Given the description of an element on the screen output the (x, y) to click on. 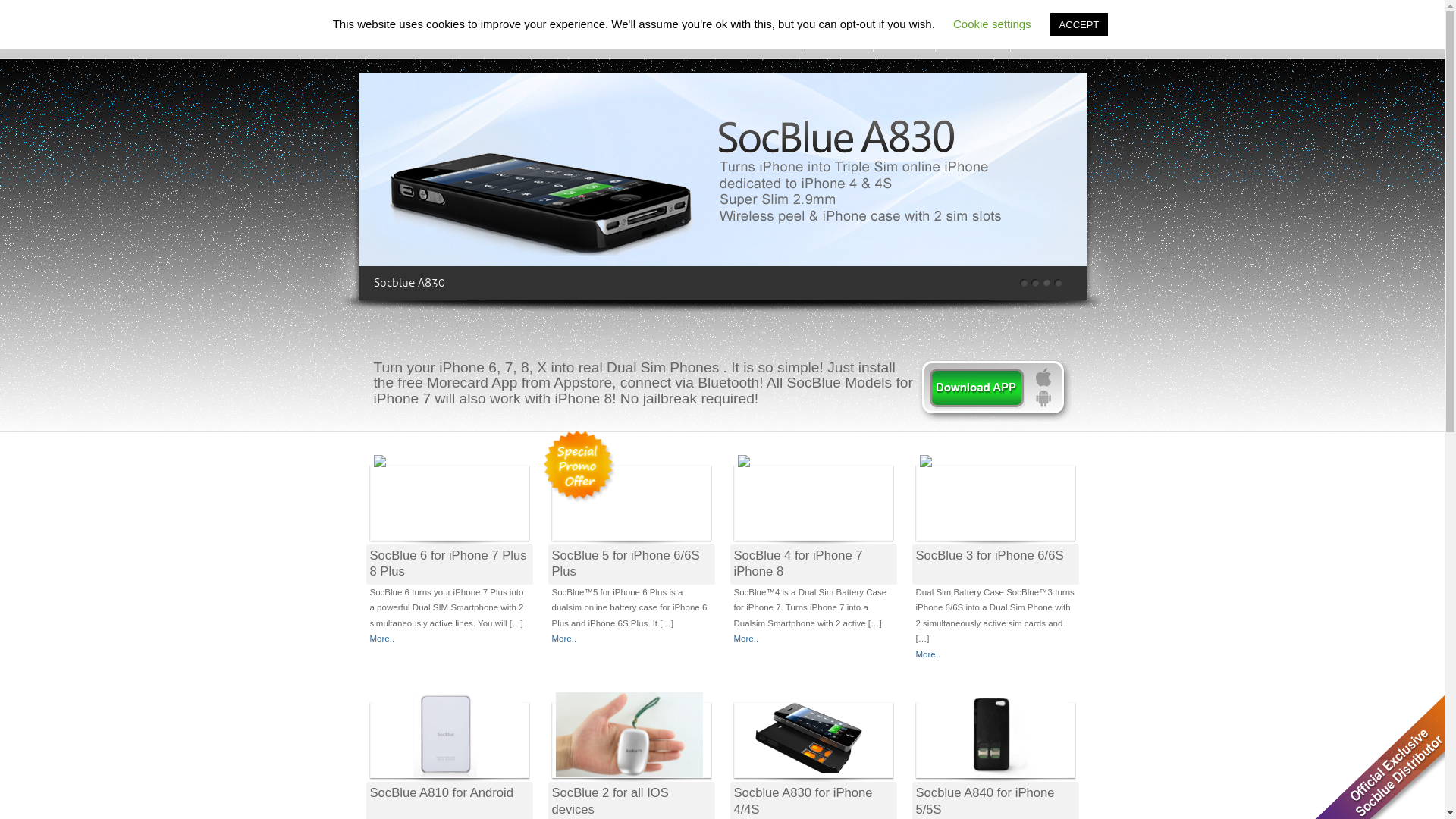
SocBlue 5 for iPhone 6/6S Plus Element type: hover (560, 470)
Cookie settings Element type: text (992, 23)
SocBlue 5 for iPhone 6/6S Plus Element type: text (625, 563)
SocBlue 2 for all IOS devices Element type: hover (628, 781)
More.. Element type: text (746, 638)
HOME Element type: text (781, 29)
SocBlue 3 for iPhone 6/6S Element type: text (989, 555)
ORDER NOW Element type: text (972, 29)
learn more Element type: text (993, 390)
SocBlue 3 for iPhone 6/6S Element type: hover (924, 470)
1 Element type: text (1035, 282)
SUPPORT Element type: text (903, 29)
0 Element type: text (1023, 282)
Socblue A830 for iPhone 4/4S Element type: hover (810, 785)
SocBlue 6 for iPhone 7 Plus 8 Plus Element type: text (448, 563)
PRODUCTS Element type: text (838, 29)
Socblue A840 for iPhone 5/5S Element type: hover (992, 781)
3 Element type: text (1057, 282)
Socblue A830 for iPhone 4/4S Element type: text (803, 800)
SocBlue 4 for iPhone 7 iPhone 8 Element type: text (798, 563)
More.. Element type: text (382, 638)
SocBlue 4 for iPhone 7 iPhone 8 Element type: hover (742, 470)
SocBlue A810 for Android Element type: hover (446, 781)
SocBlue A810 for Android Element type: text (441, 792)
CONTACT Element type: text (1040, 29)
SocBlue 2 for all IOS devices Element type: text (610, 800)
2 Element type: text (1045, 282)
Socblue A840 for iPhone 5/5S Element type: text (985, 800)
More.. Element type: text (564, 638)
More.. Element type: text (928, 653)
Socblue A850 Element type: hover (721, 186)
SocBlue 6 for iPhone 7 Plus 8 Plus Element type: hover (378, 470)
ACCEPT Element type: text (1079, 24)
